Given the description of an element on the screen output the (x, y) to click on. 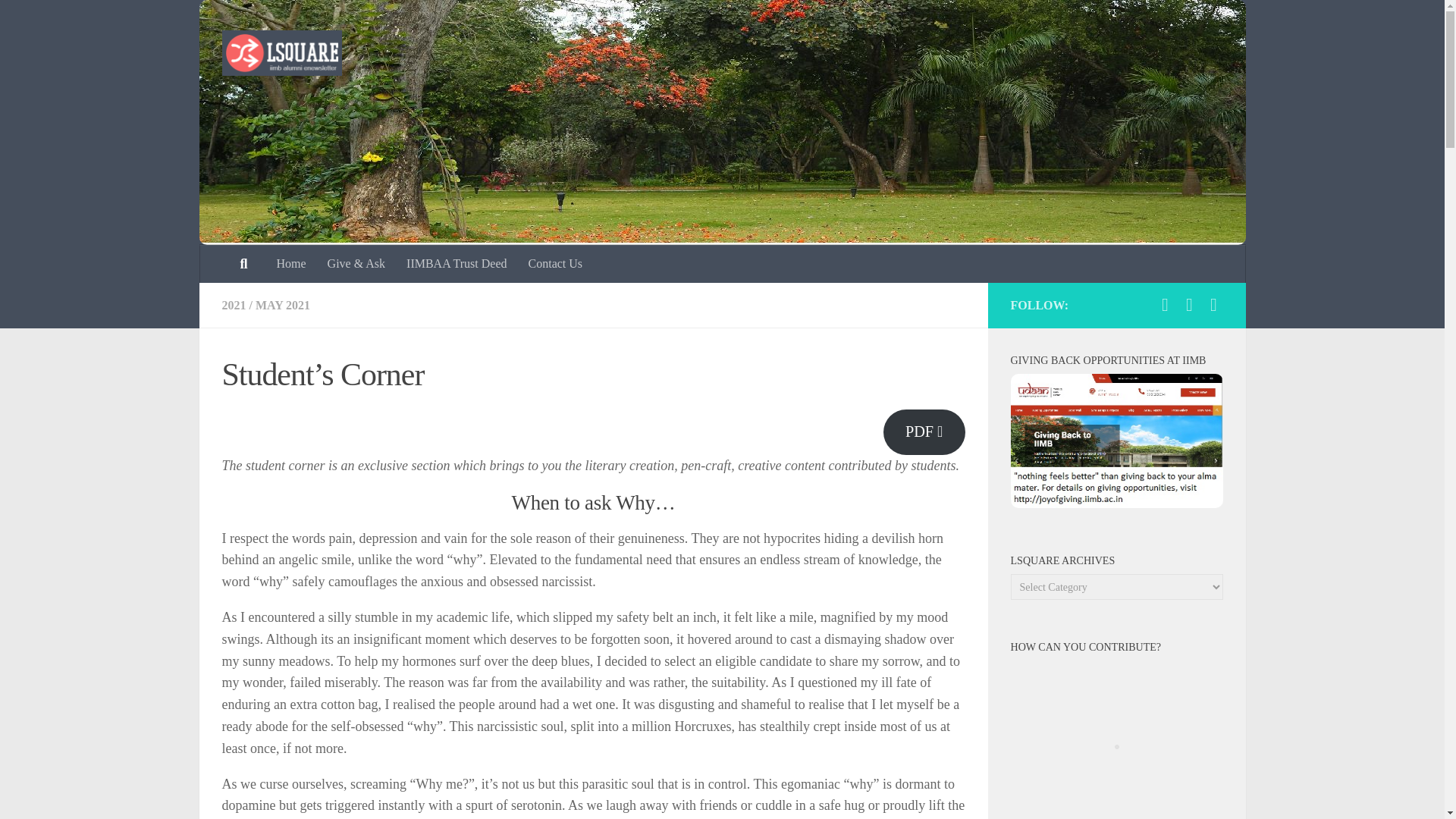
2021 (233, 305)
Home (289, 263)
Skip to content (59, 20)
IIMBAA Trust Deed (456, 263)
MAY 2021 (283, 305)
Follow us on Facebook (1164, 304)
Follow us on Twitter (1213, 304)
Contact Us (556, 263)
Follow us on Linkedin (1188, 304)
